Given the description of an element on the screen output the (x, y) to click on. 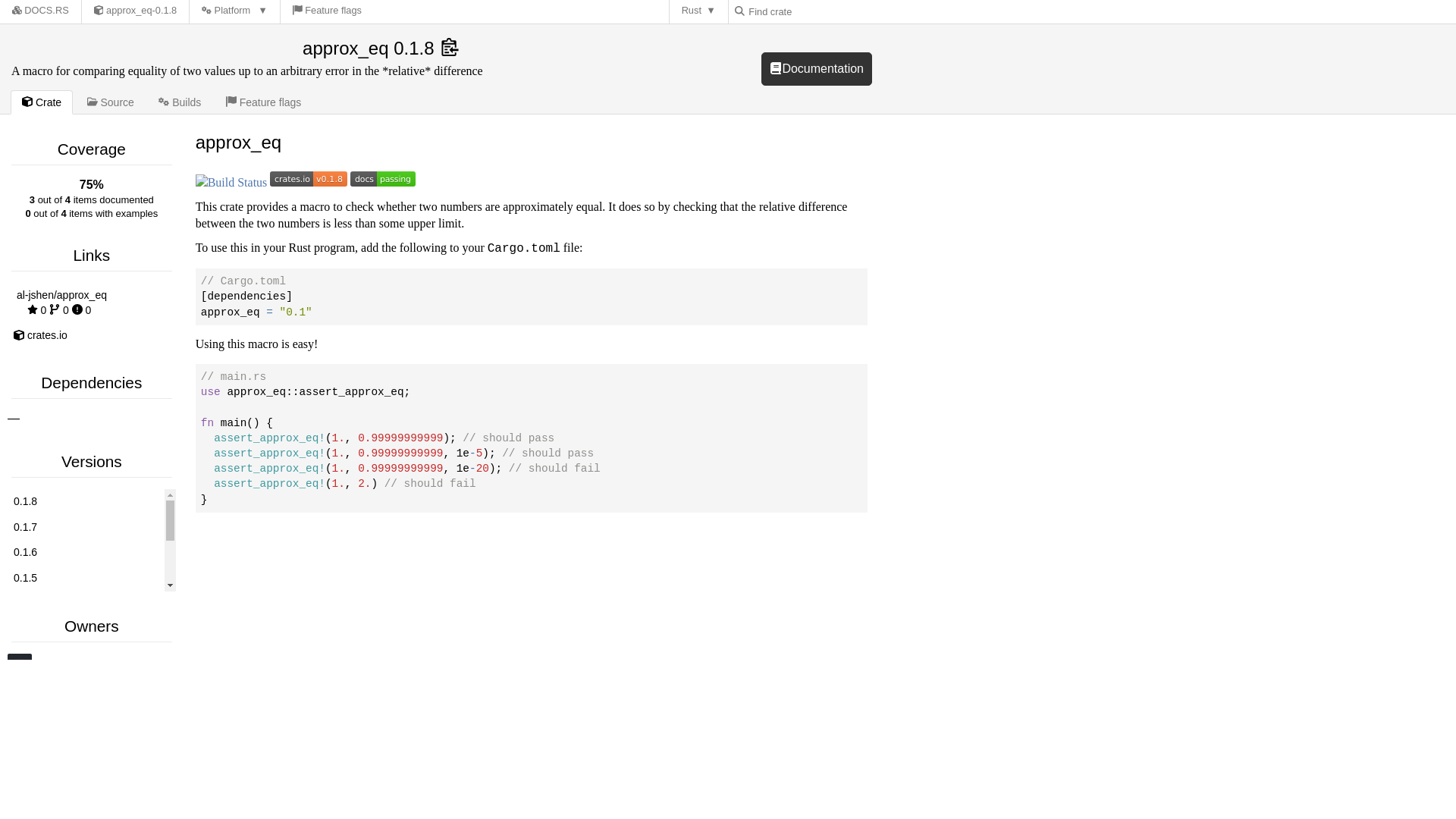
Builds (179, 101)
crates.io (91, 335)
0.1.2 (85, 655)
Feature flags (264, 101)
0.1.7 (85, 527)
0.1.6 (91, 539)
Rust (85, 552)
0.1.0 (698, 11)
DOCS.RS (85, 679)
